Given the description of an element on the screen output the (x, y) to click on. 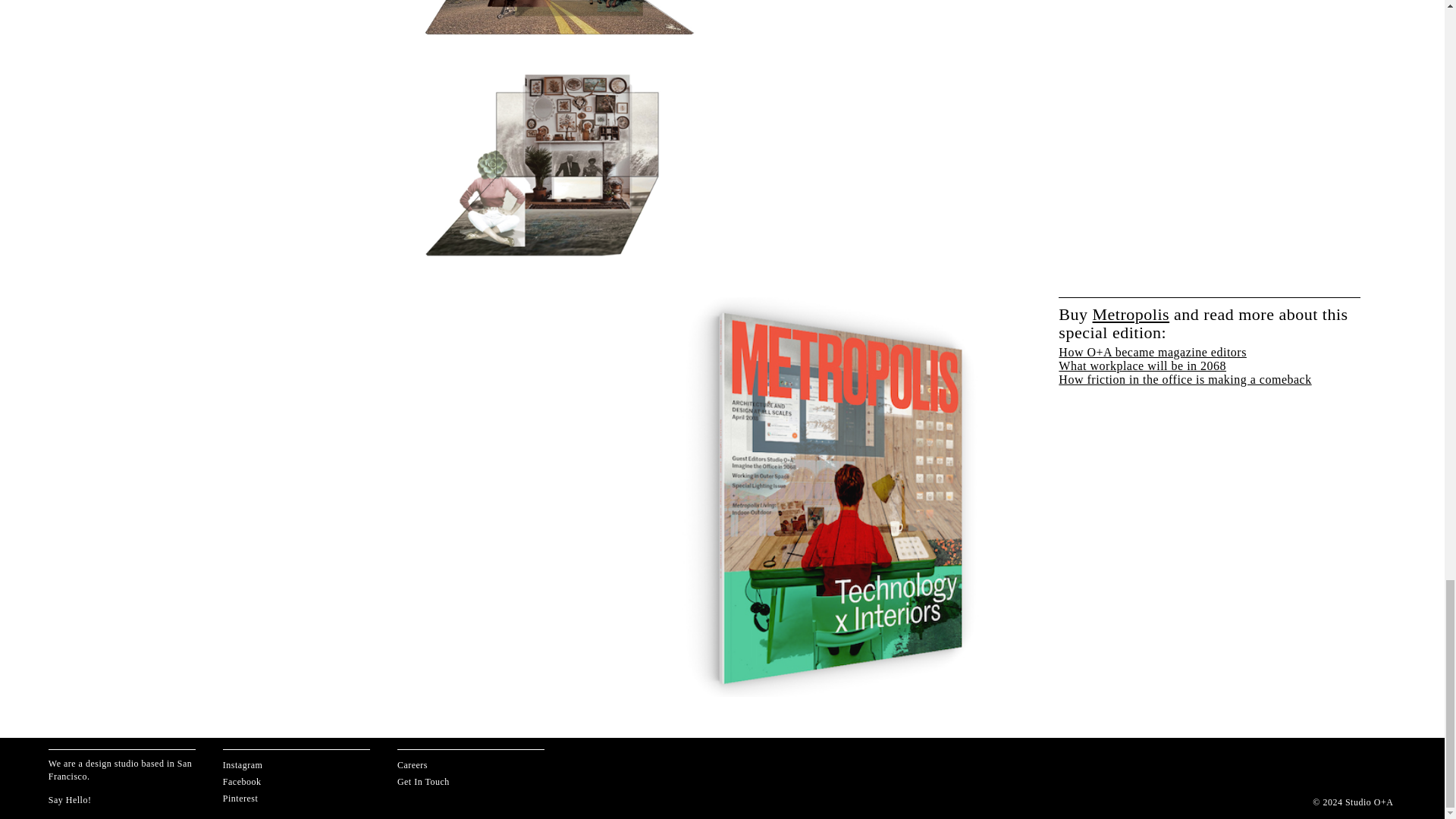
Get In Touch (423, 781)
Facebook (242, 781)
Say Hello! (69, 799)
Pinterest (240, 798)
Careers (412, 765)
What workplace will be in 2068 (1141, 365)
How friction in the office is making a comeback (1184, 379)
Metropolis (1131, 313)
Instagram (242, 765)
